Given the description of an element on the screen output the (x, y) to click on. 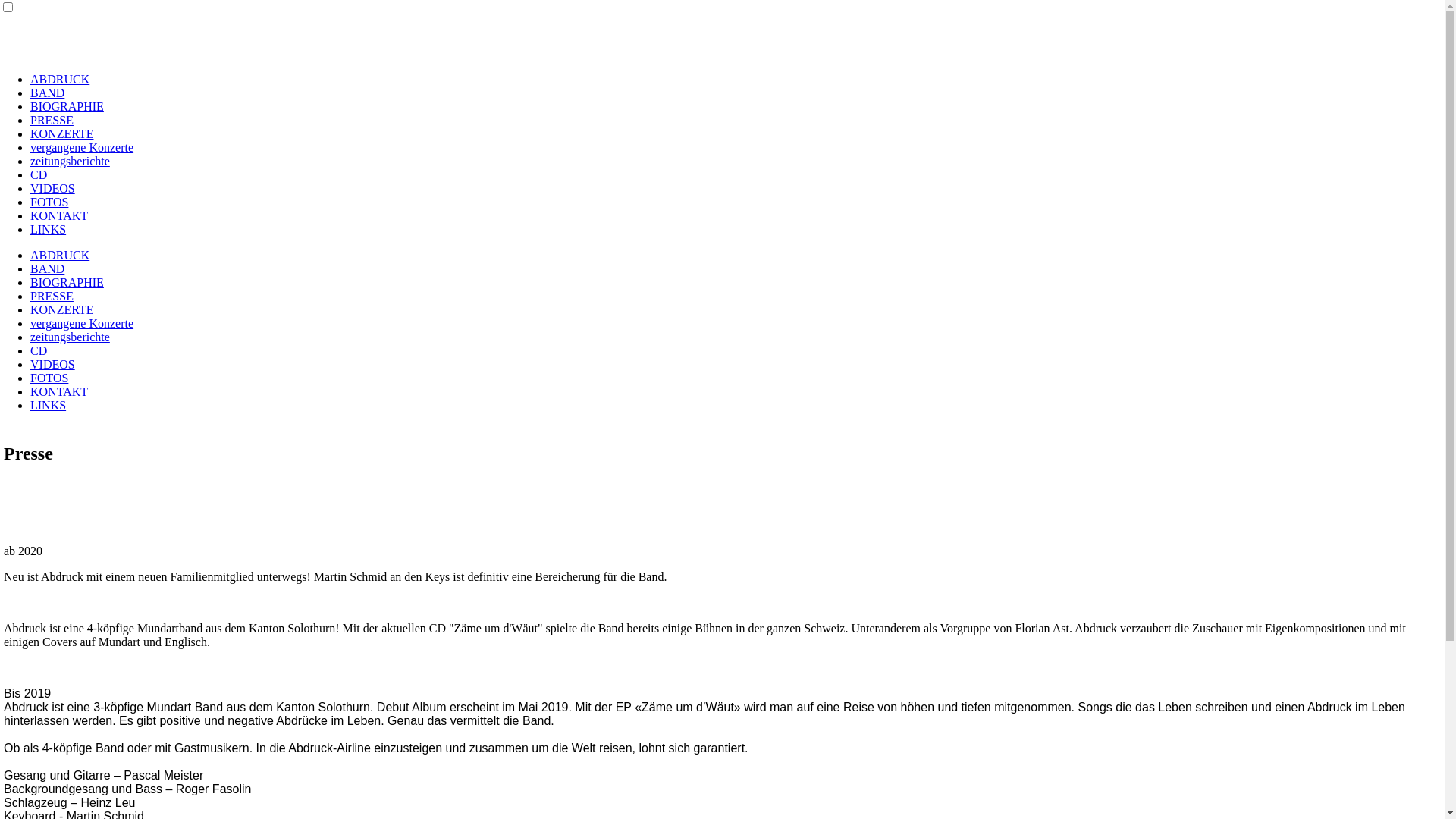
FOTOS Element type: text (49, 377)
KONTAKT Element type: text (58, 215)
vergangene Konzerte Element type: text (81, 322)
KONZERTE Element type: text (61, 133)
BAND Element type: text (47, 92)
PRESSE Element type: text (51, 295)
zeitungsberichte Element type: text (69, 160)
LINKS Element type: text (47, 228)
VIDEOS Element type: text (52, 188)
BIOGRAPHIE Element type: text (66, 282)
KONTAKT Element type: text (58, 391)
FOTOS Element type: text (49, 201)
zeitungsberichte Element type: text (69, 336)
PRESSE Element type: text (51, 119)
ABDRUCK Element type: text (59, 78)
ABDRUCK Element type: text (59, 254)
BIOGRAPHIE Element type: text (66, 106)
LINKS Element type: text (47, 404)
KONZERTE Element type: text (61, 309)
vergangene Konzerte Element type: text (81, 147)
BAND Element type: text (47, 268)
CD Element type: text (38, 350)
VIDEOS Element type: text (52, 363)
CD Element type: text (38, 174)
